Given the description of an element on the screen output the (x, y) to click on. 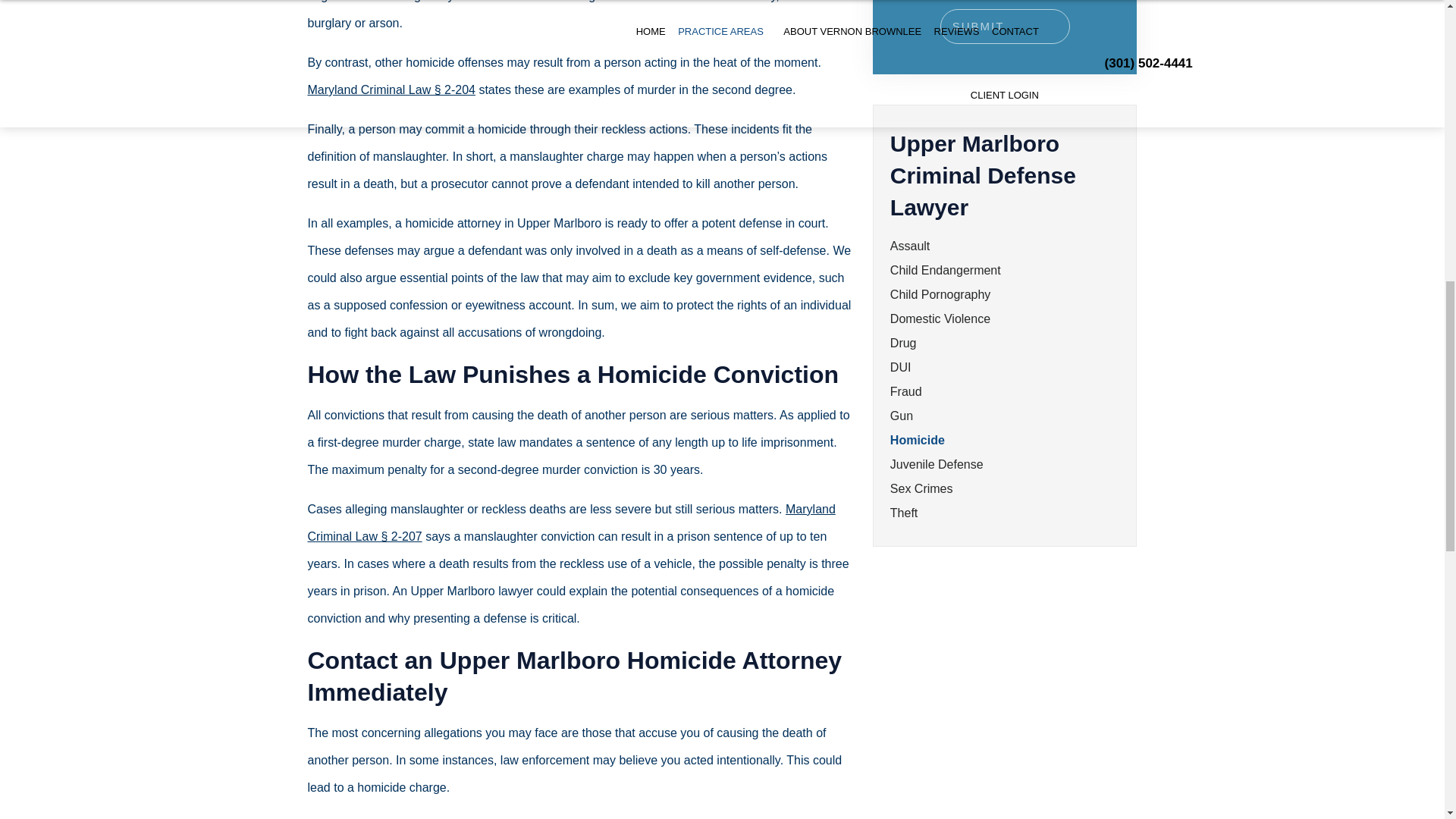
Submit (1005, 26)
